Given the description of an element on the screen output the (x, y) to click on. 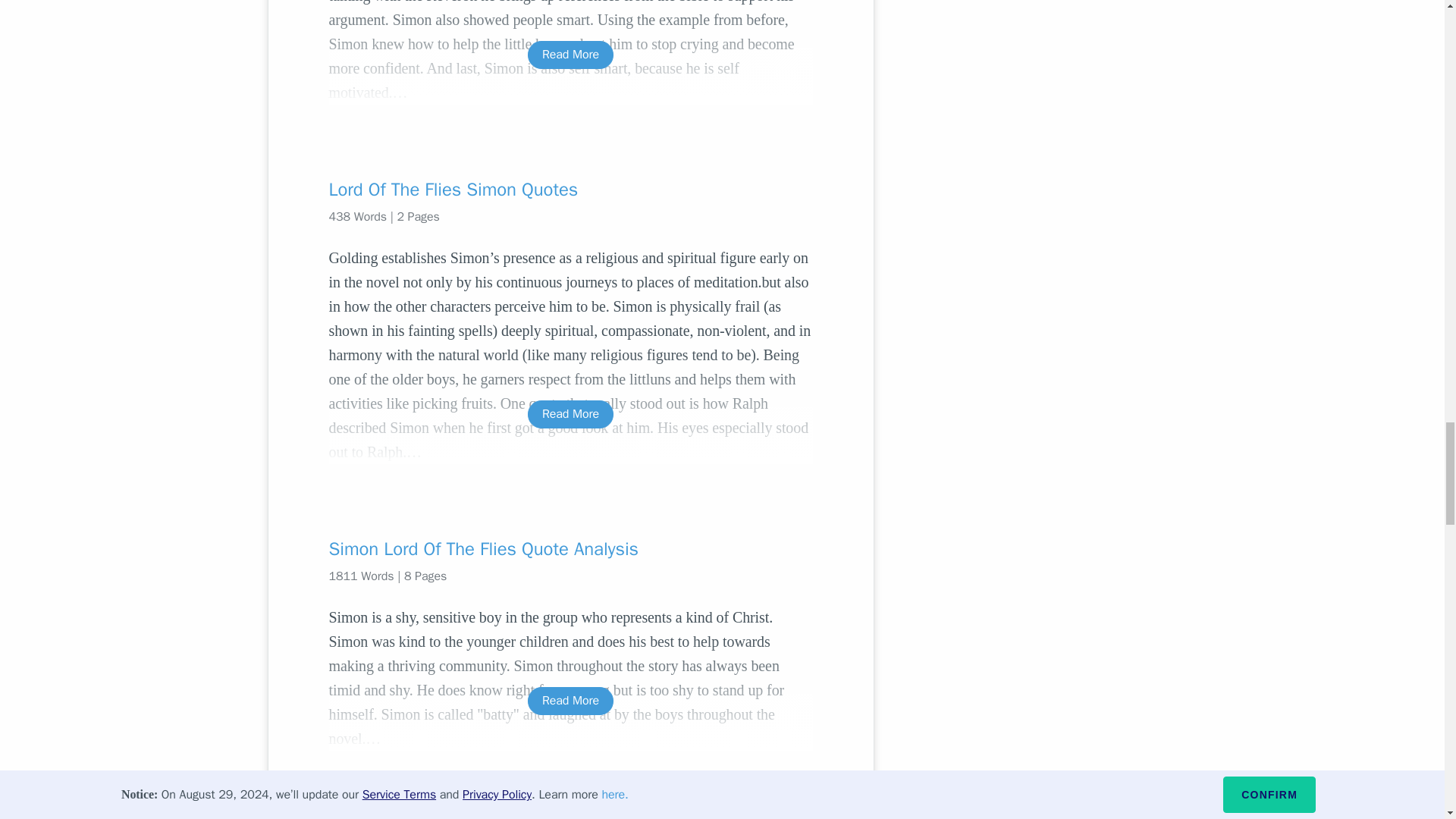
Lord Of The Flies Simon Quotes (570, 189)
Simon Lord Of The Flies Quote Analysis (570, 549)
Read More (569, 54)
Read More (569, 414)
Read More (569, 700)
